Given the description of an element on the screen output the (x, y) to click on. 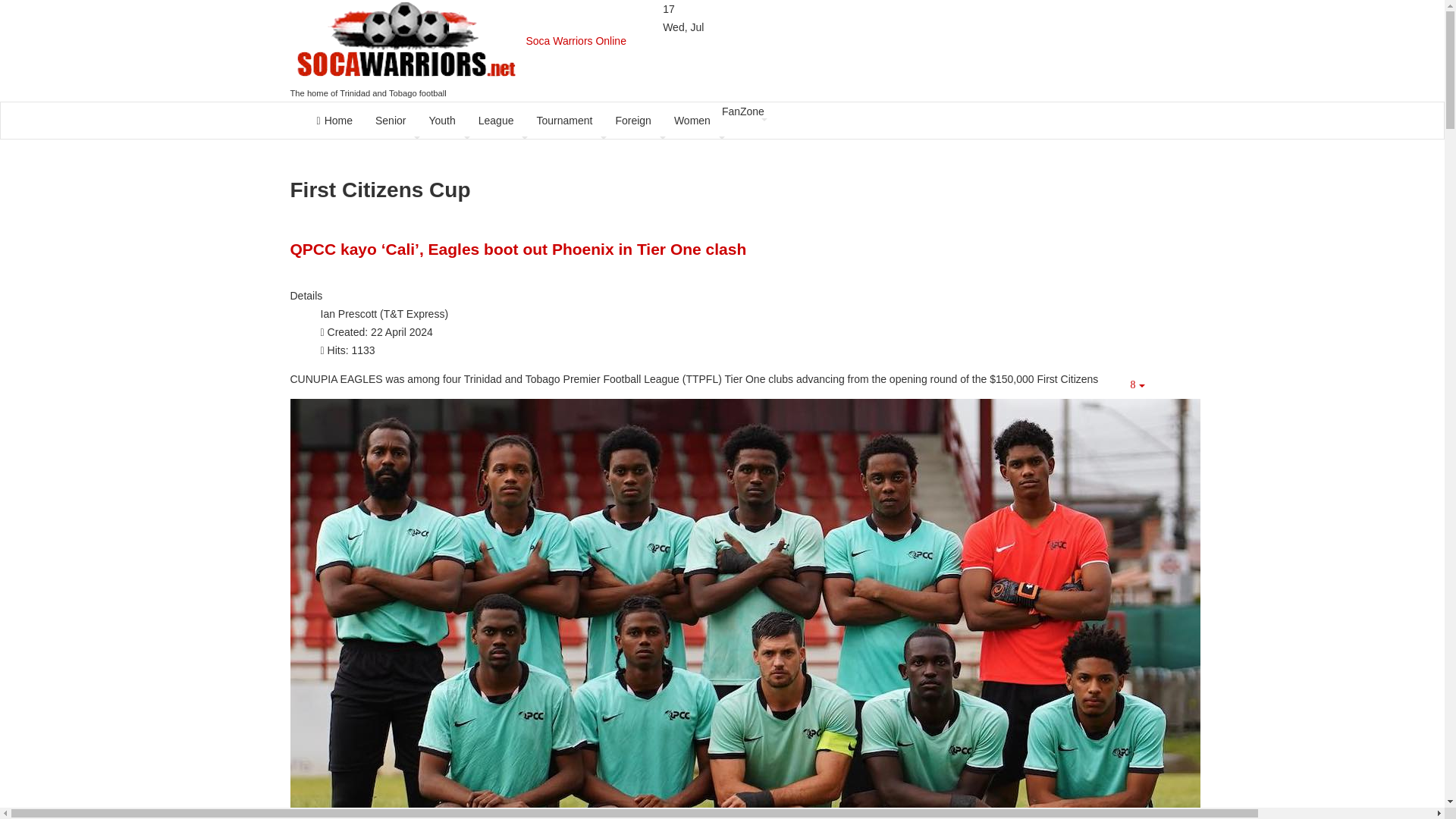
Soca Warriors Online (457, 40)
Soca Warriors Online (457, 40)
Youth (440, 120)
Home (333, 120)
Senior (390, 120)
League (496, 120)
